Given the description of an element on the screen output the (x, y) to click on. 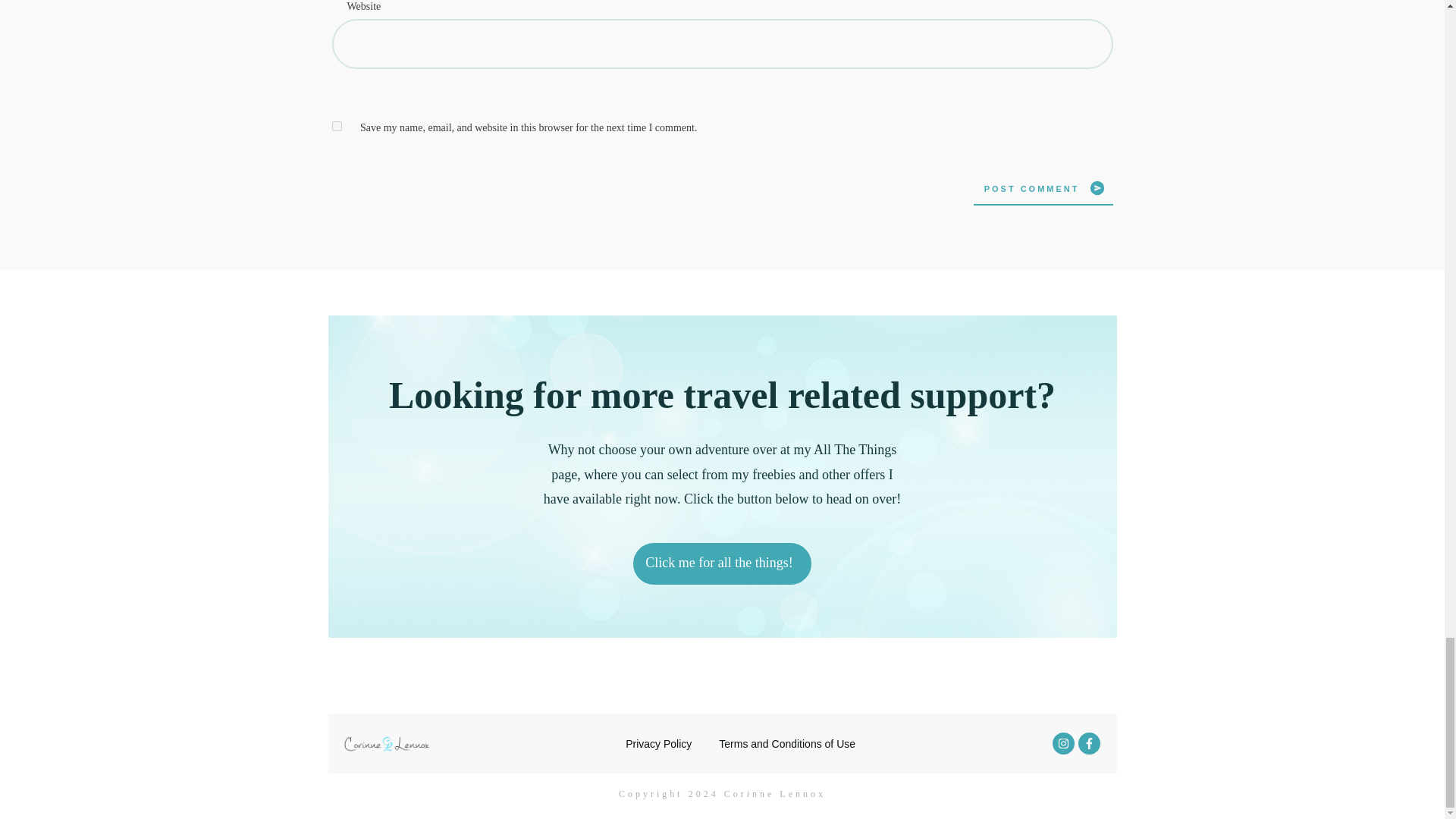
POST COMMENT (1043, 187)
Privacy Policy (658, 743)
yes (336, 126)
Click me for all the things! (721, 563)
Terms and Conditions of Use (787, 743)
